Given the description of an element on the screen output the (x, y) to click on. 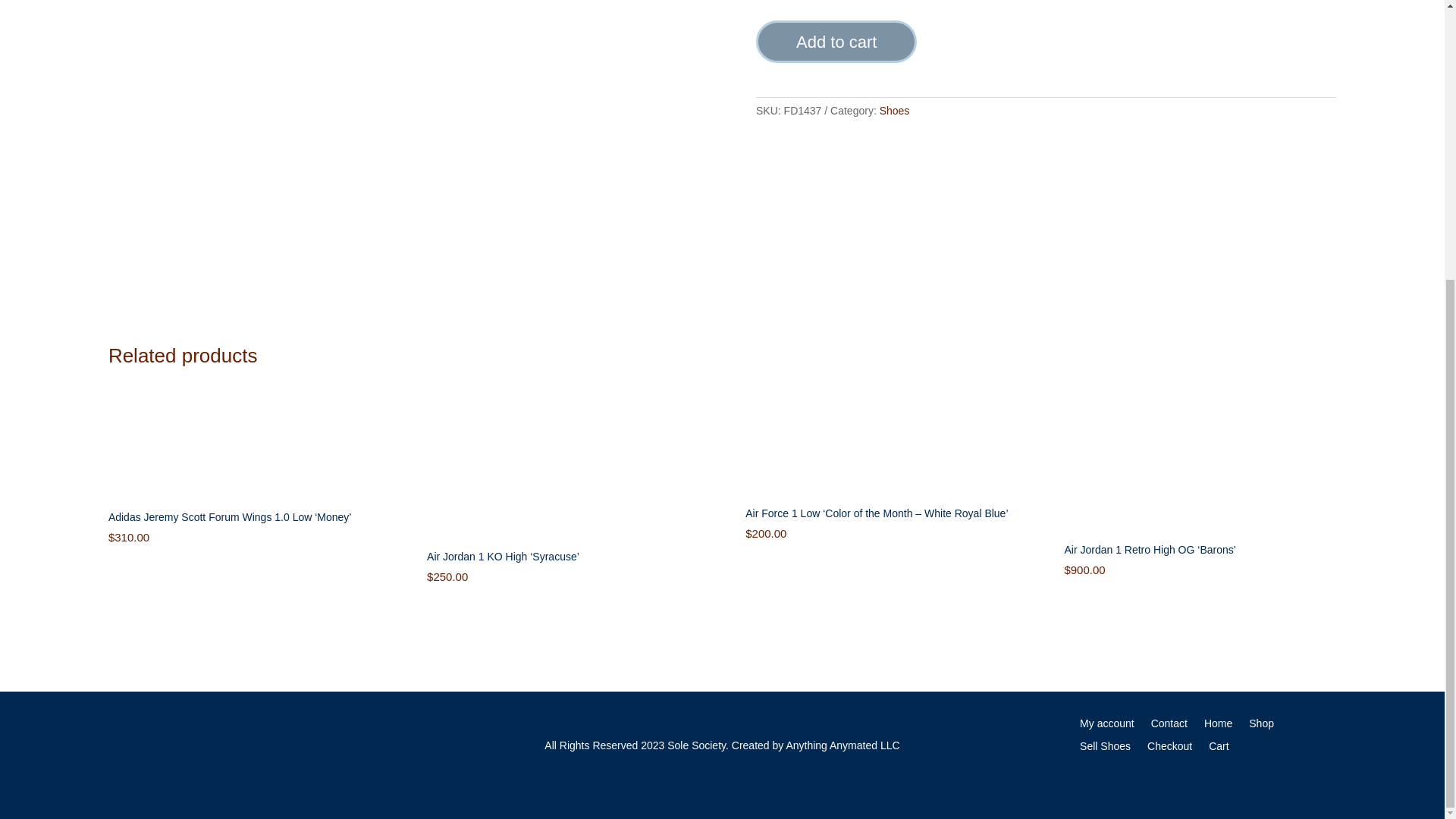
Checkout (1169, 749)
Shop (1261, 726)
Contact (1169, 726)
Shoes (894, 110)
Add to cart (836, 41)
Cart (1218, 749)
My account (1107, 726)
Home (1217, 726)
Sell Shoes (1105, 749)
